Given the description of an element on the screen output the (x, y) to click on. 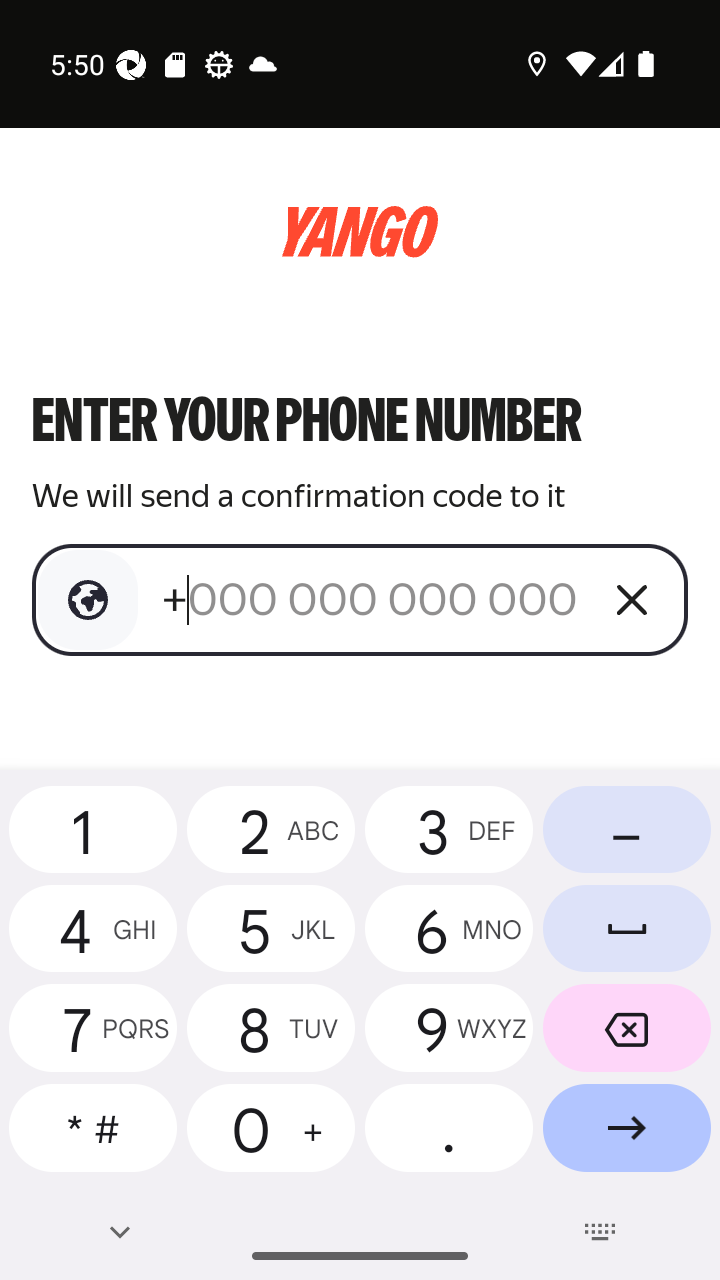
logo (359, 231)
  (88, 600)
+ (372, 599)
